Given the description of an element on the screen output the (x, y) to click on. 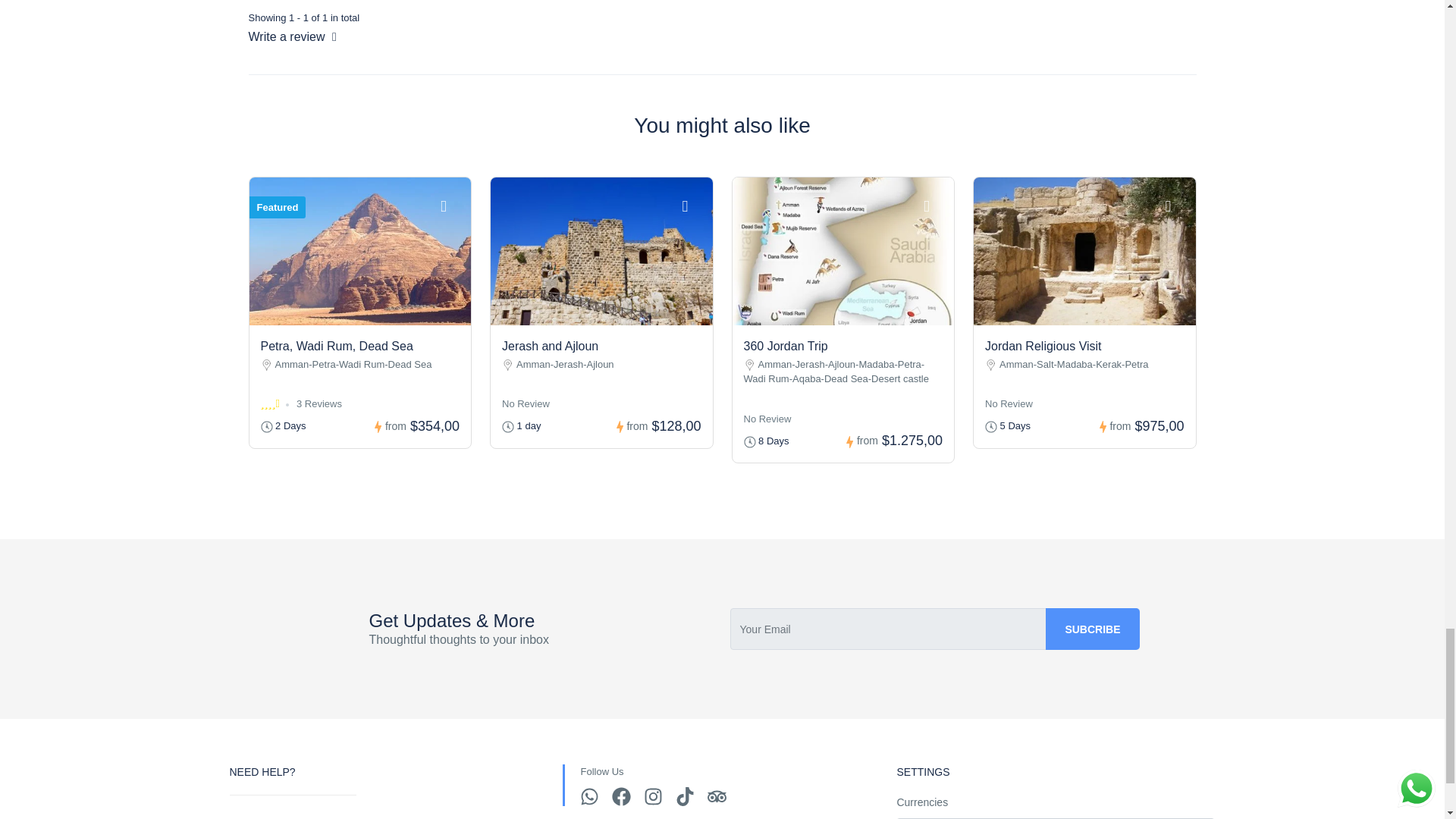
Subcribe (1091, 629)
Add to wishlist (693, 205)
Add to wishlist (1176, 205)
Add to wishlist (452, 205)
Add to wishlist (934, 205)
